Given the description of an element on the screen output the (x, y) to click on. 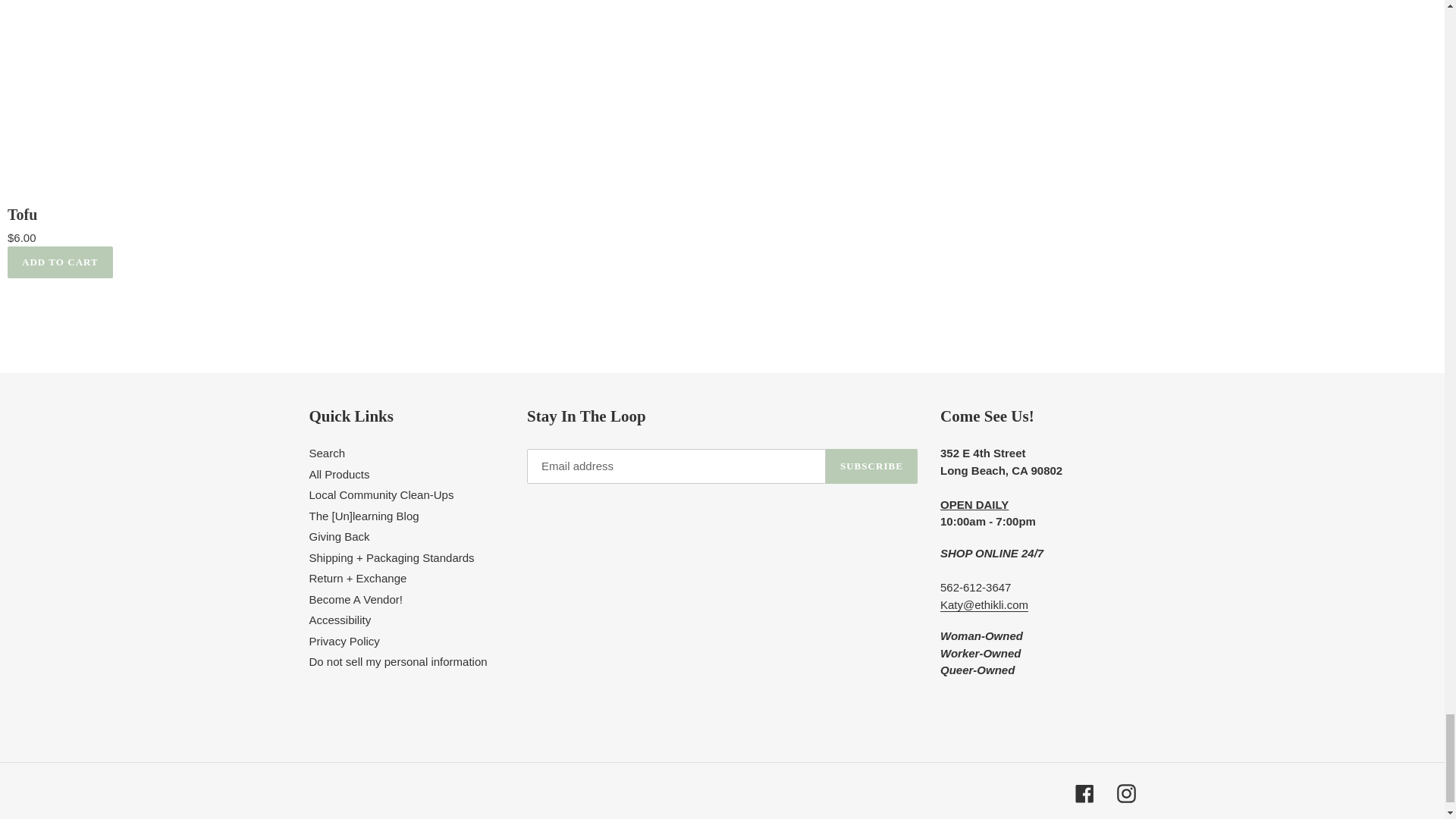
Contact Us (983, 604)
